Given the description of an element on the screen output the (x, y) to click on. 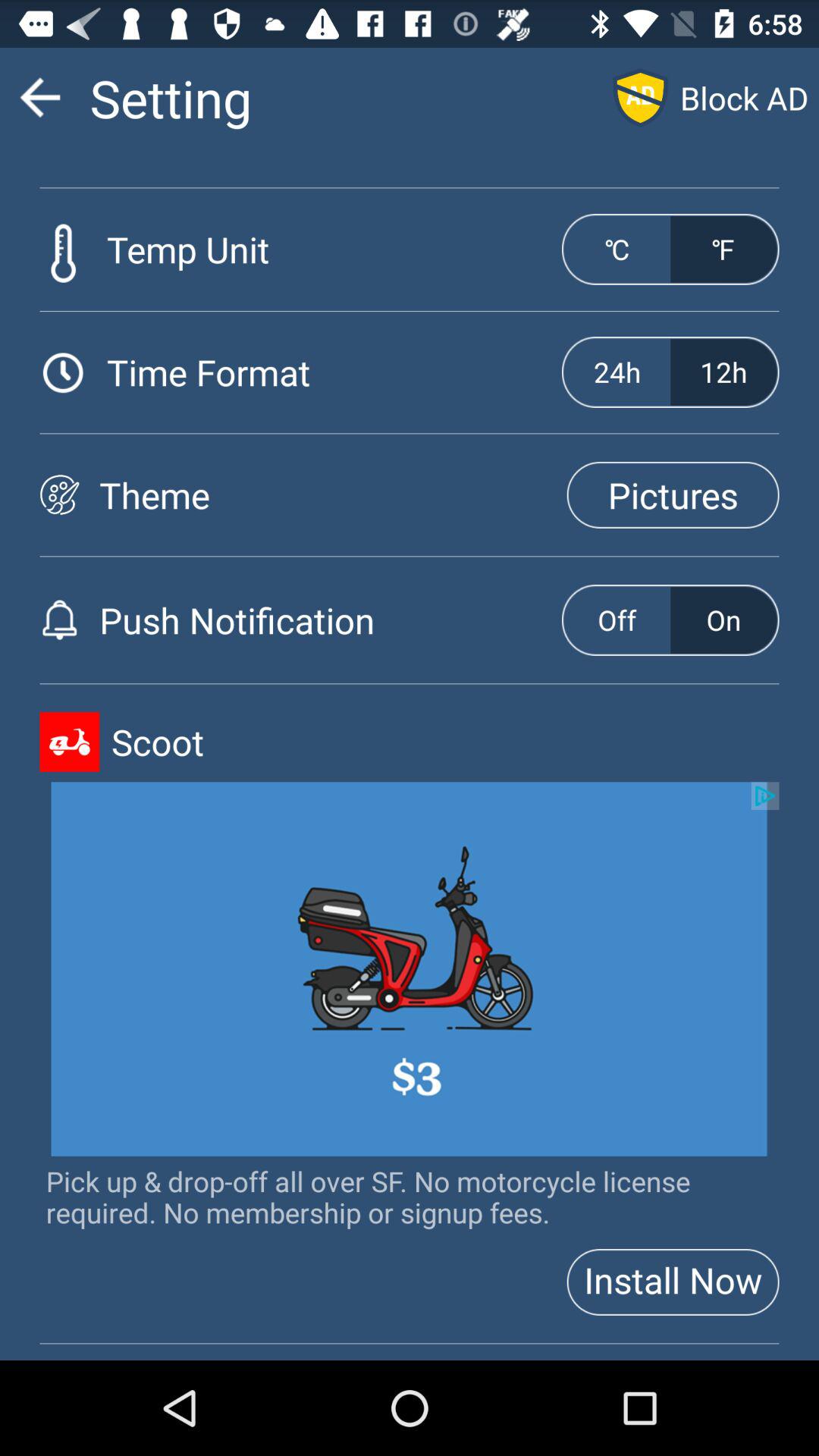
click on bell icon (59, 619)
go to text scoot (445, 741)
select on button right side to push notification (723, 619)
click on fahrenheit scale in the temperature unit (723, 248)
click the back arrow button at the top left of the page (39, 96)
